Given the description of an element on the screen output the (x, y) to click on. 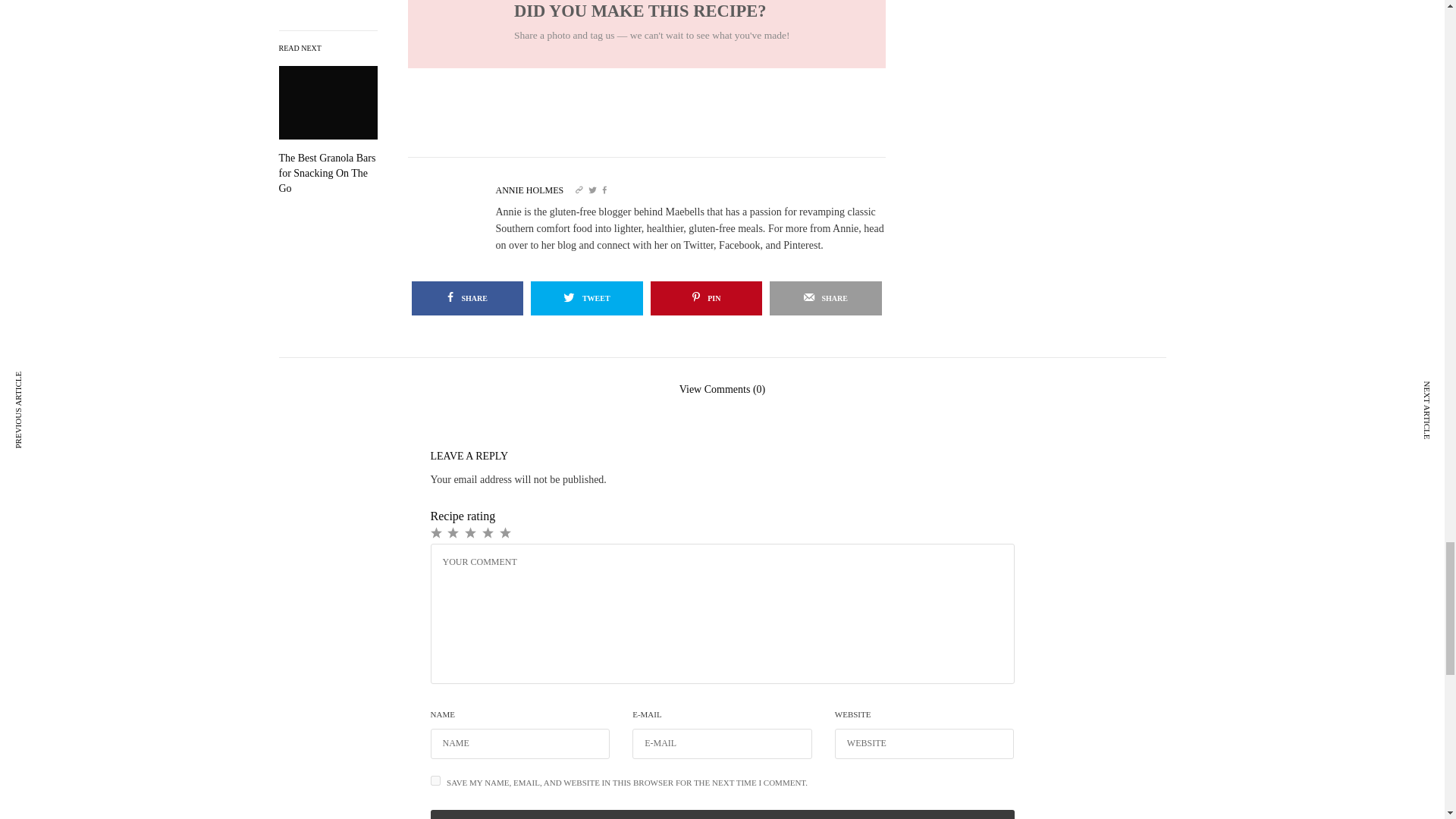
Submit Comment (722, 814)
yes (435, 780)
